Given the description of an element on the screen output the (x, y) to click on. 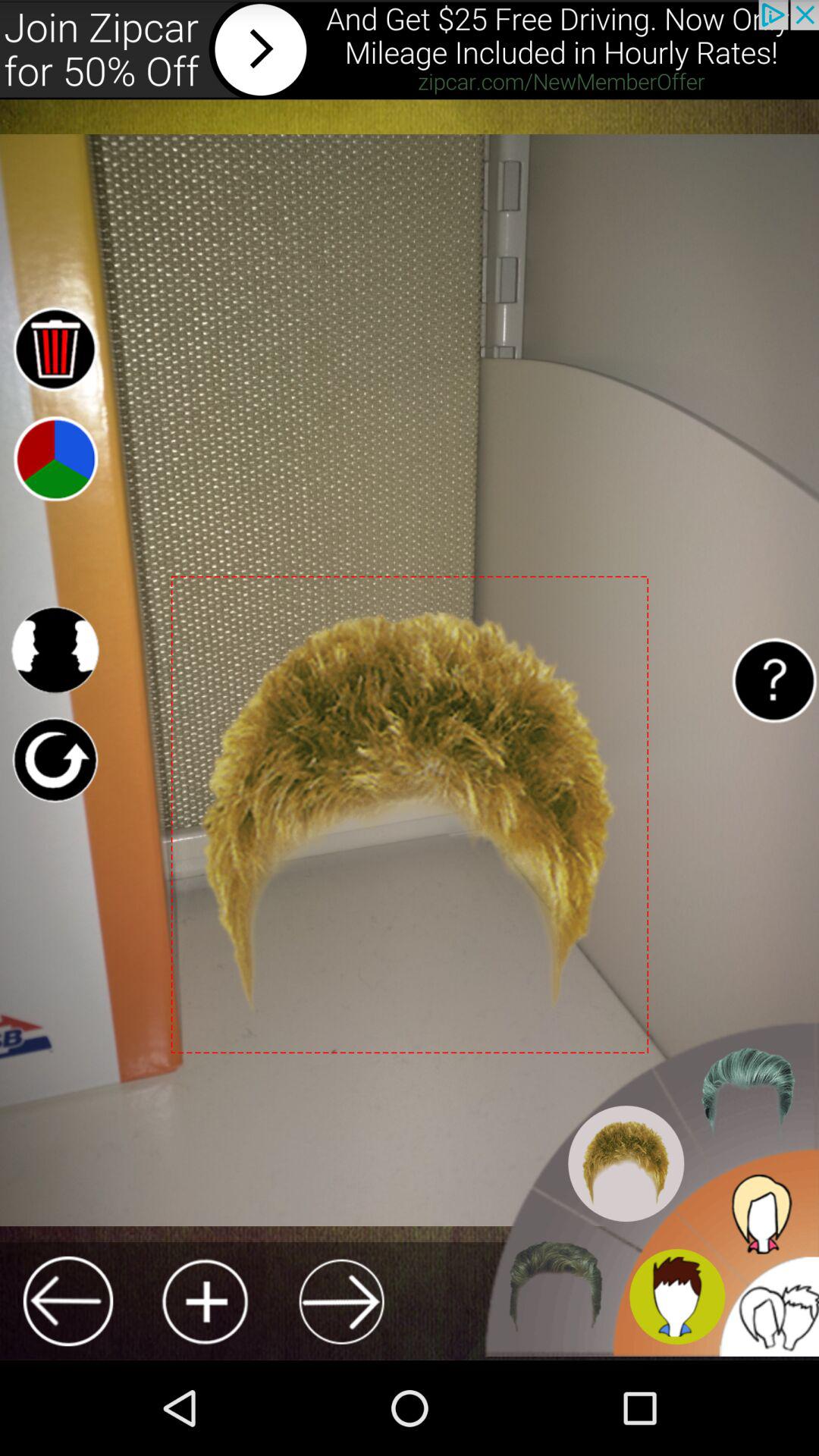
delete box (55, 348)
